Given the description of an element on the screen output the (x, y) to click on. 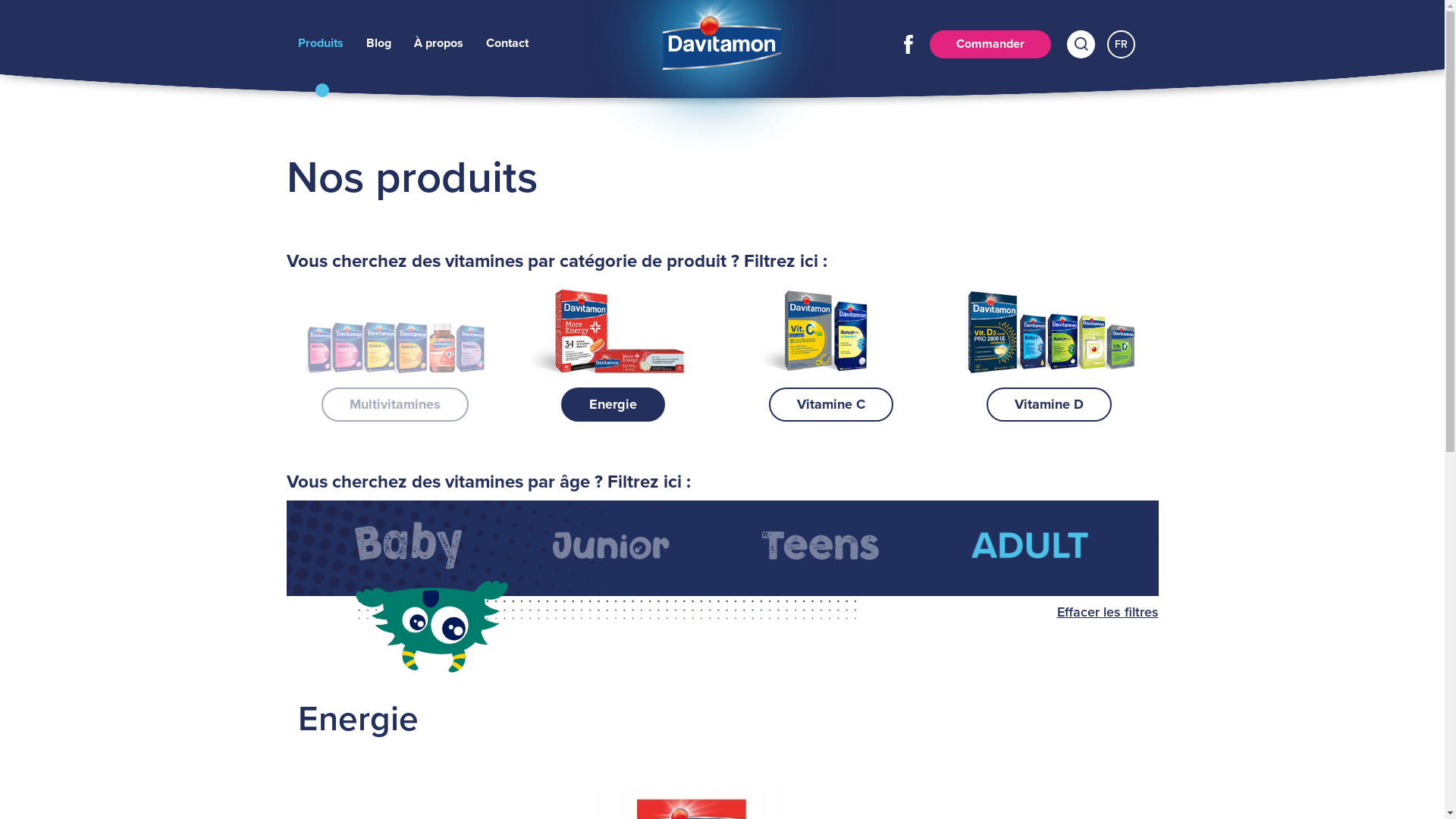
Produits Element type: text (319, 43)
Rechercher Element type: text (1080, 44)
Energie Element type: text (613, 346)
Blog Element type: text (377, 43)
Multivitamines Element type: text (394, 346)
Vitamine D Element type: text (1049, 346)
Contact Element type: text (506, 43)
Commander Element type: text (990, 44)
Vitamine C Element type: text (831, 346)
Effacer les filtres Element type: text (1107, 612)
